Given the description of an element on the screen output the (x, y) to click on. 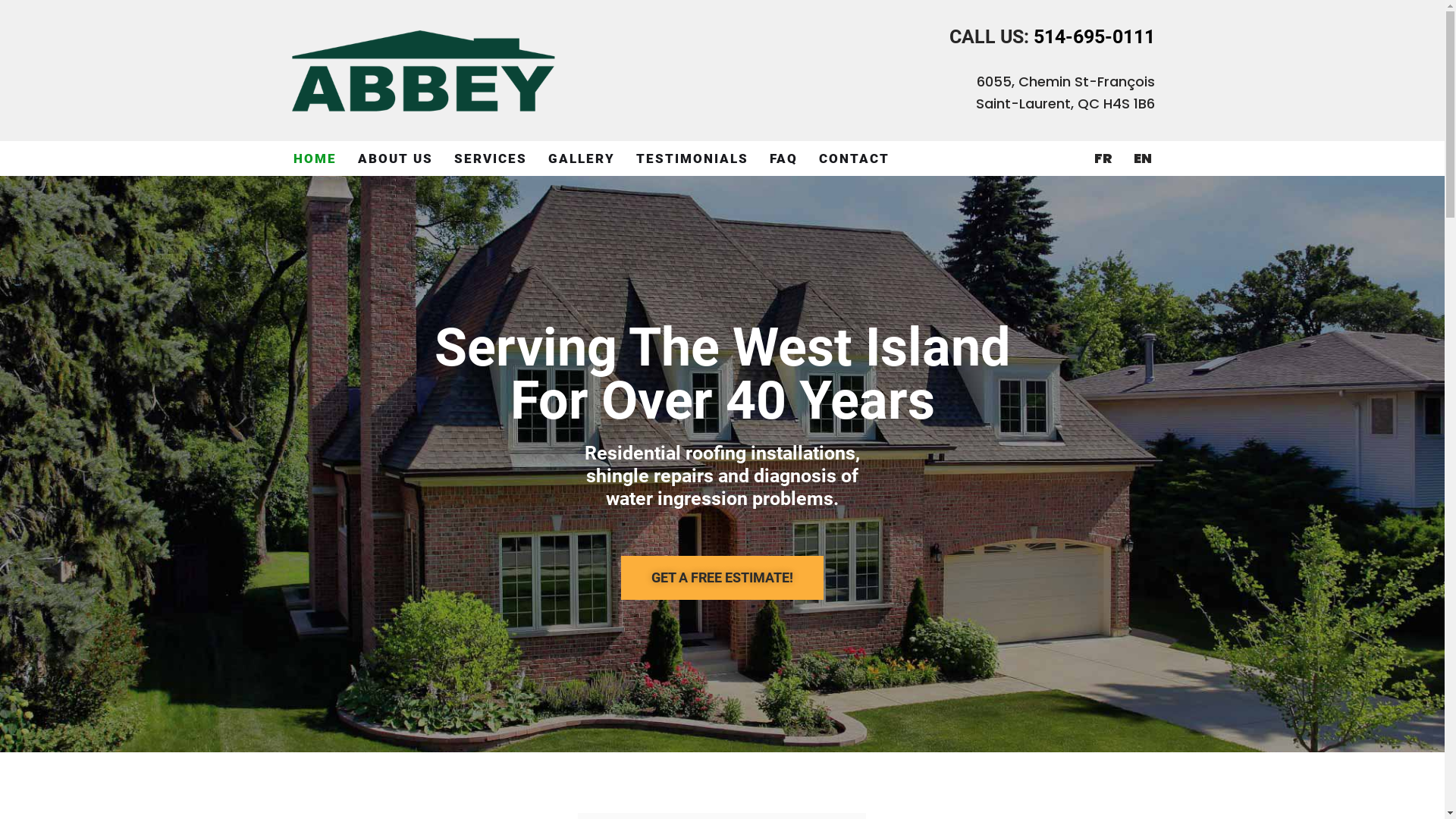
CONTACT Element type: text (854, 158)
GALLERY Element type: text (580, 158)
TESTIMONIALS Element type: text (691, 158)
Skip to content Element type: text (11, 31)
EN Element type: text (1141, 158)
FR Element type: text (1102, 158)
GET A FREE ESTIMATE! Element type: text (722, 577)
SERVICES Element type: text (489, 158)
ABOUT US Element type: text (395, 158)
HOME Element type: text (313, 158)
FAQ Element type: text (782, 158)
514-695-0111 Element type: text (1093, 36)
